Given the description of an element on the screen output the (x, y) to click on. 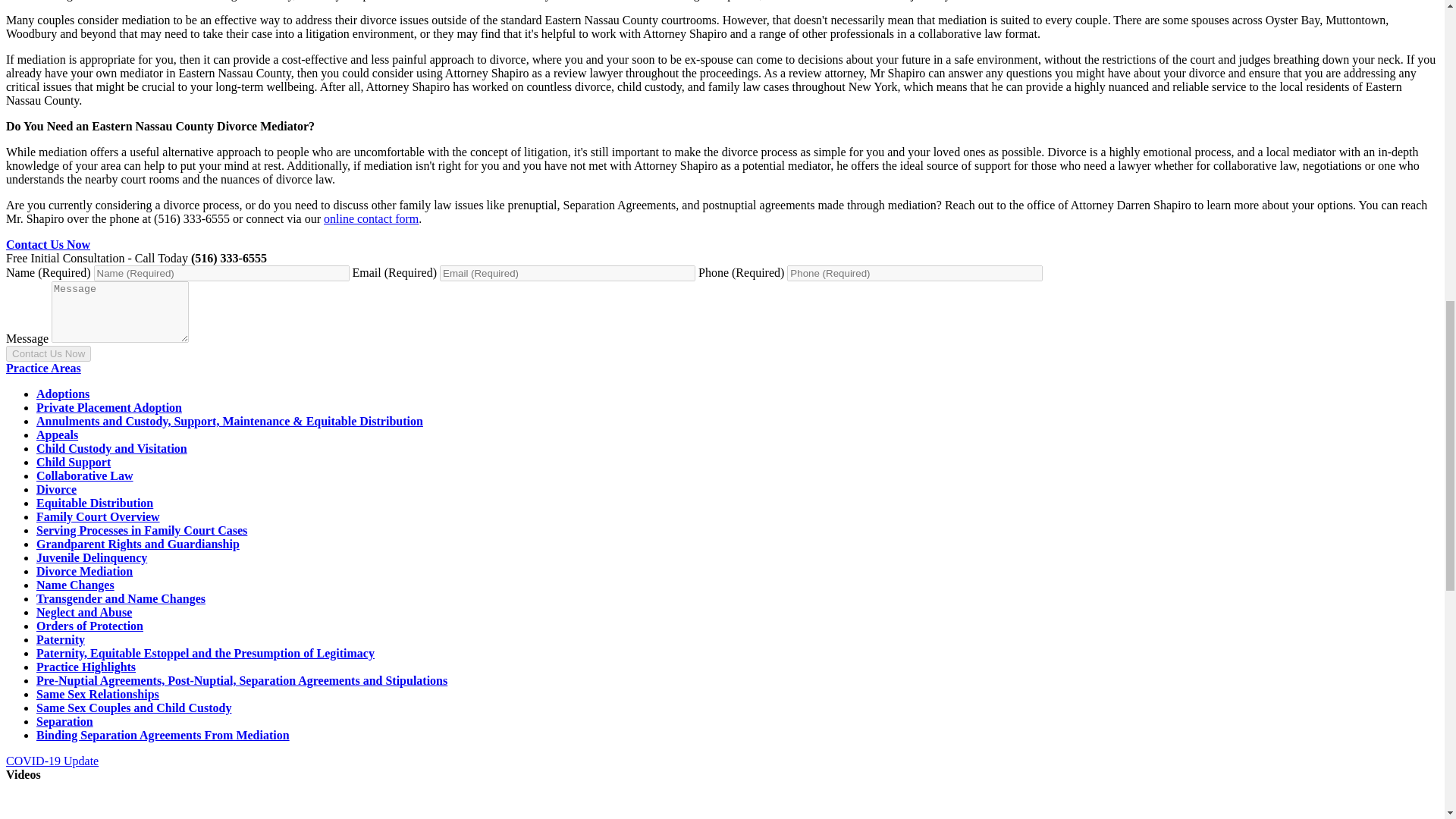
Adoptions (62, 393)
Appeals (57, 434)
Child Custody and Visitation (111, 448)
Child Support (73, 461)
Grandparent Rights and Guardianship (138, 543)
Name Changes (75, 584)
Orders of Protection (89, 625)
Contact Us Now (47, 353)
Private Placement Adoption (109, 407)
Family Court Overview (98, 516)
